Given the description of an element on the screen output the (x, y) to click on. 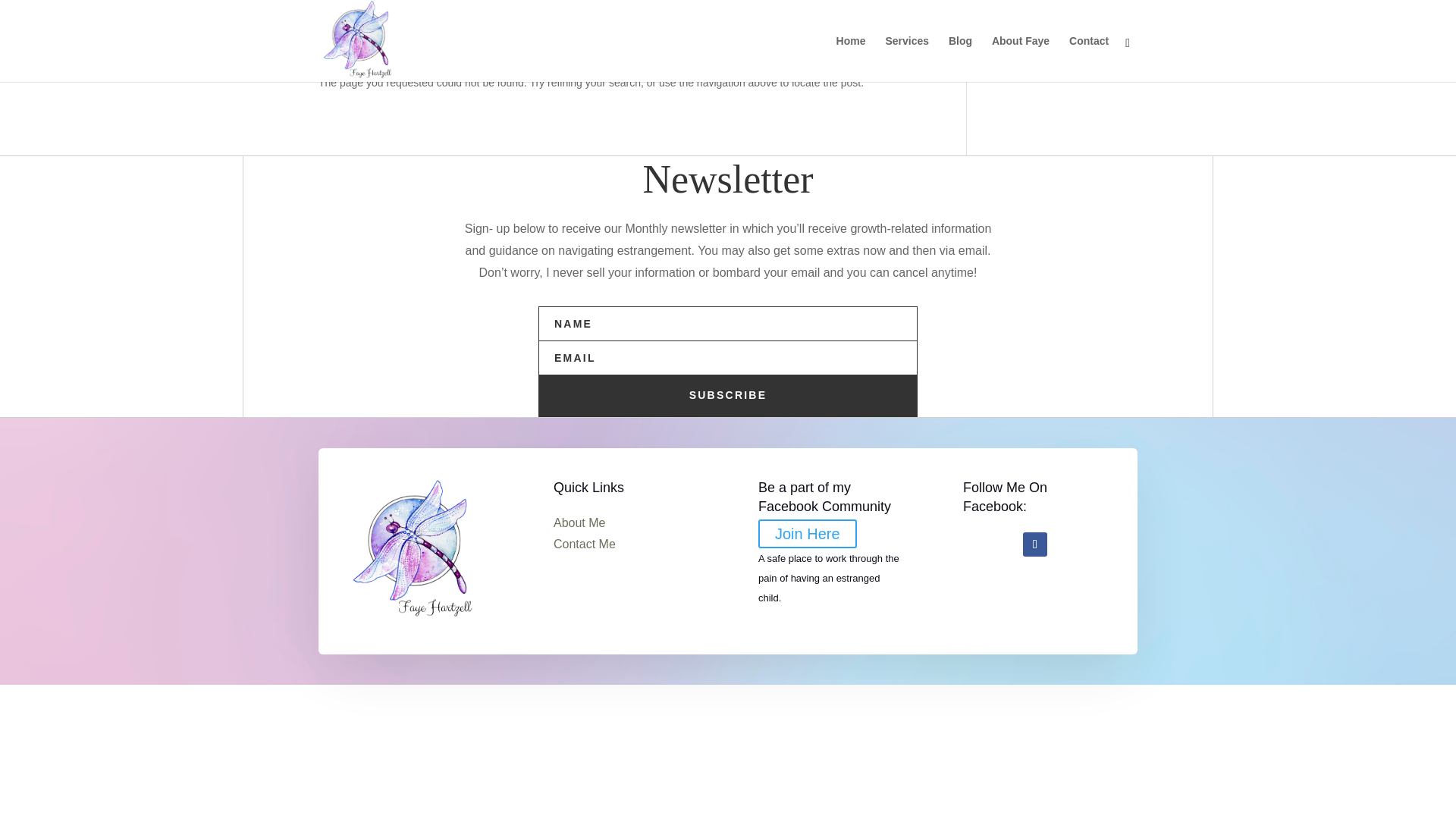
FayeHartzellLogoCircleOnly (414, 550)
About Faye (1020, 58)
Contact Me (584, 543)
About Me (579, 522)
Services (906, 58)
Follow on Facebook (1034, 544)
Join Here (807, 533)
SUBSCRIBE (727, 395)
